Given the description of an element on the screen output the (x, y) to click on. 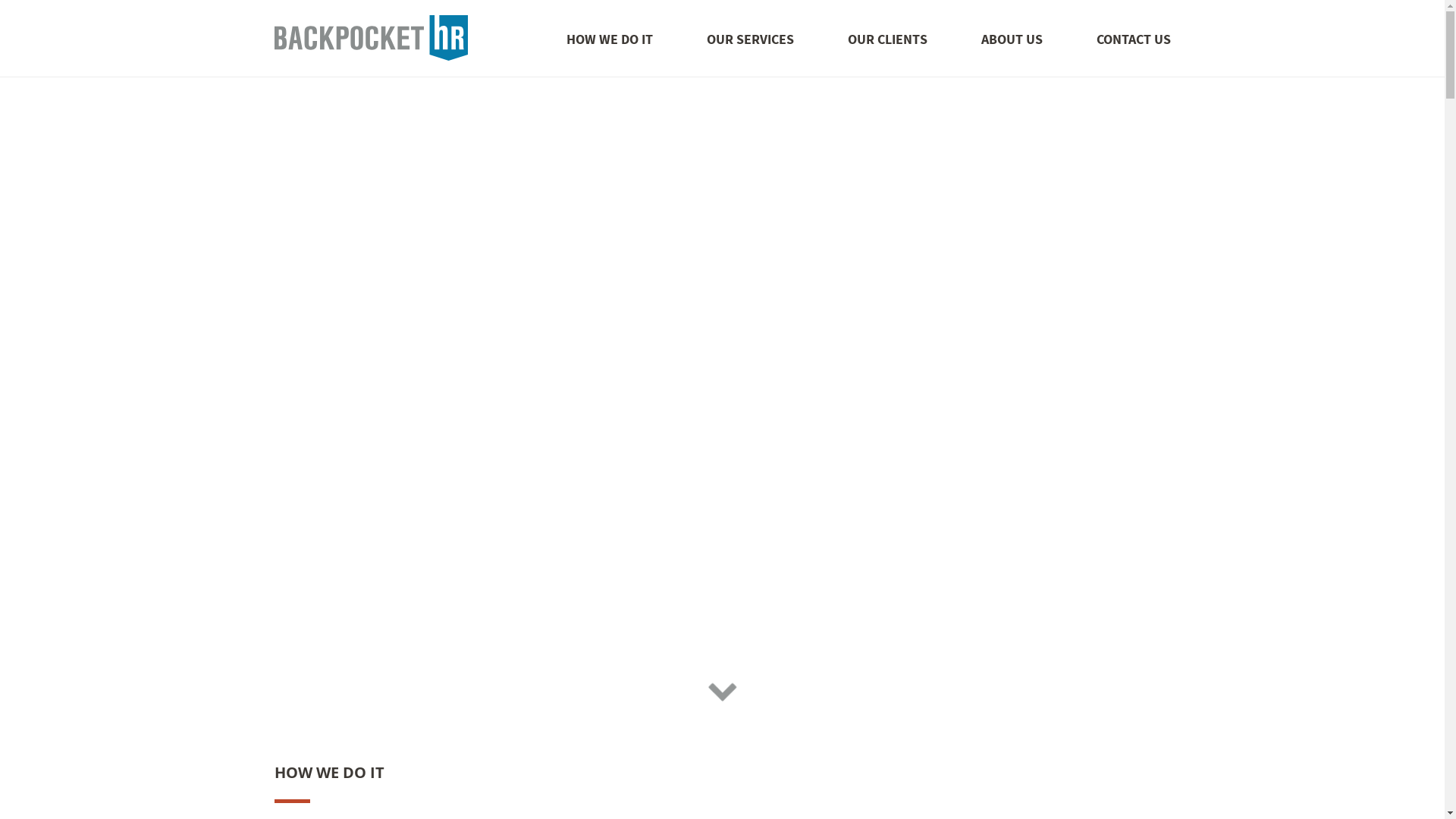
ABOUT US Element type: text (1011, 38)
Scroll down Element type: hover (721, 688)
OUR SERVICES Element type: text (749, 38)
Back to top Element type: hover (370, 55)
OUR CLIENTS Element type: text (887, 38)
HOW WE DO IT Element type: text (608, 38)
CONTACT US Element type: text (1133, 38)
